Given the description of an element on the screen output the (x, y) to click on. 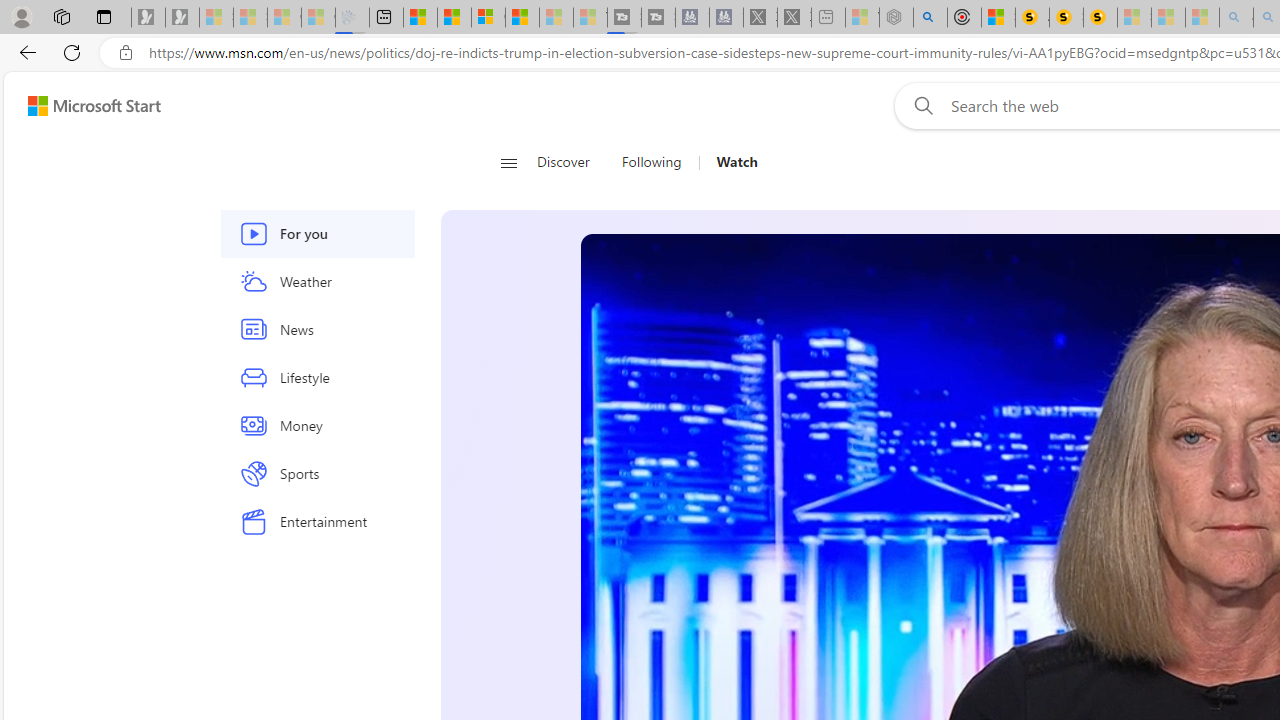
Nordace - Summer Adventures 2024 - Sleeping (895, 17)
